Given the description of an element on the screen output the (x, y) to click on. 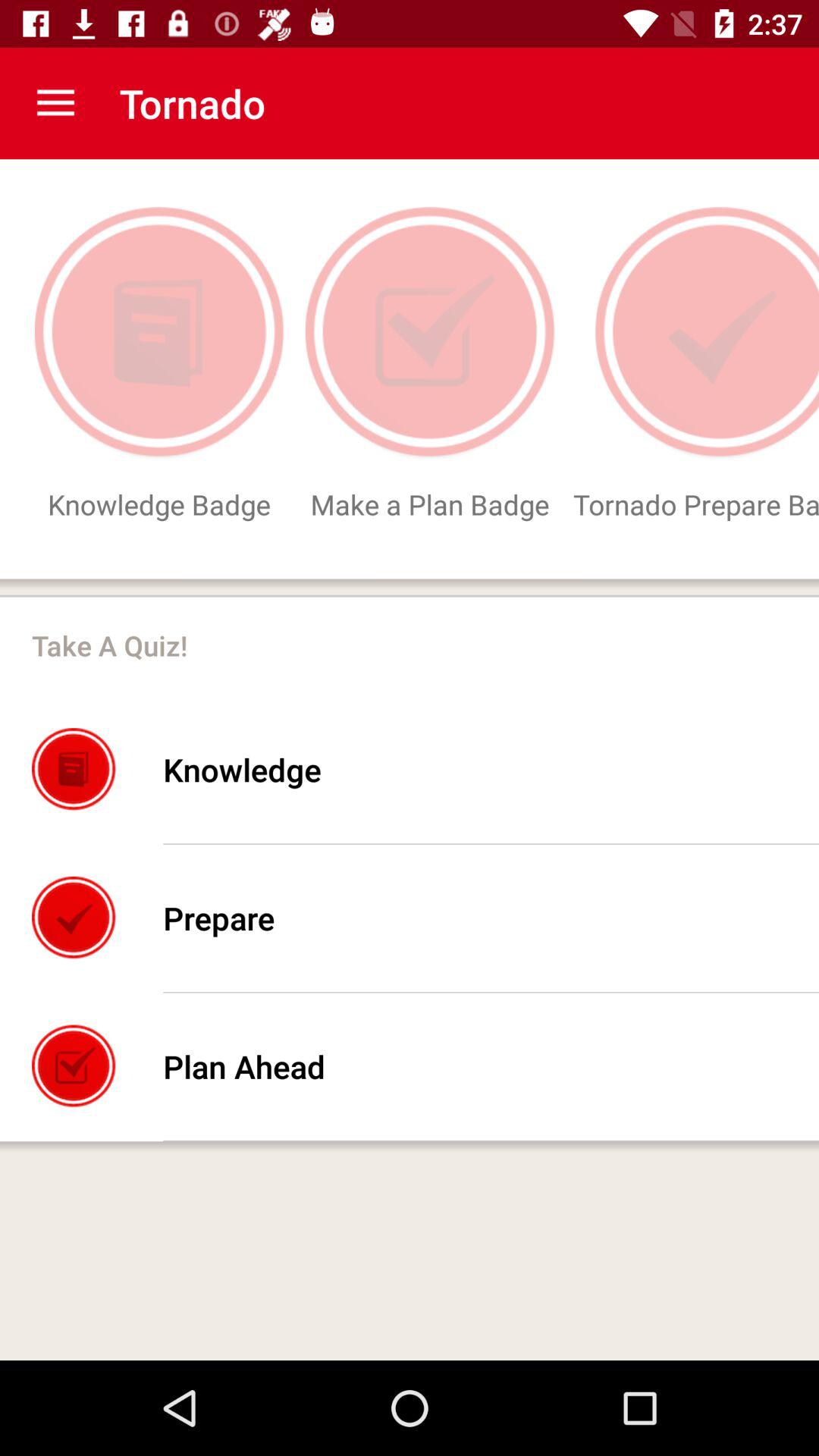
open the app to the left of tornado icon (55, 103)
